Given the description of an element on the screen output the (x, y) to click on. 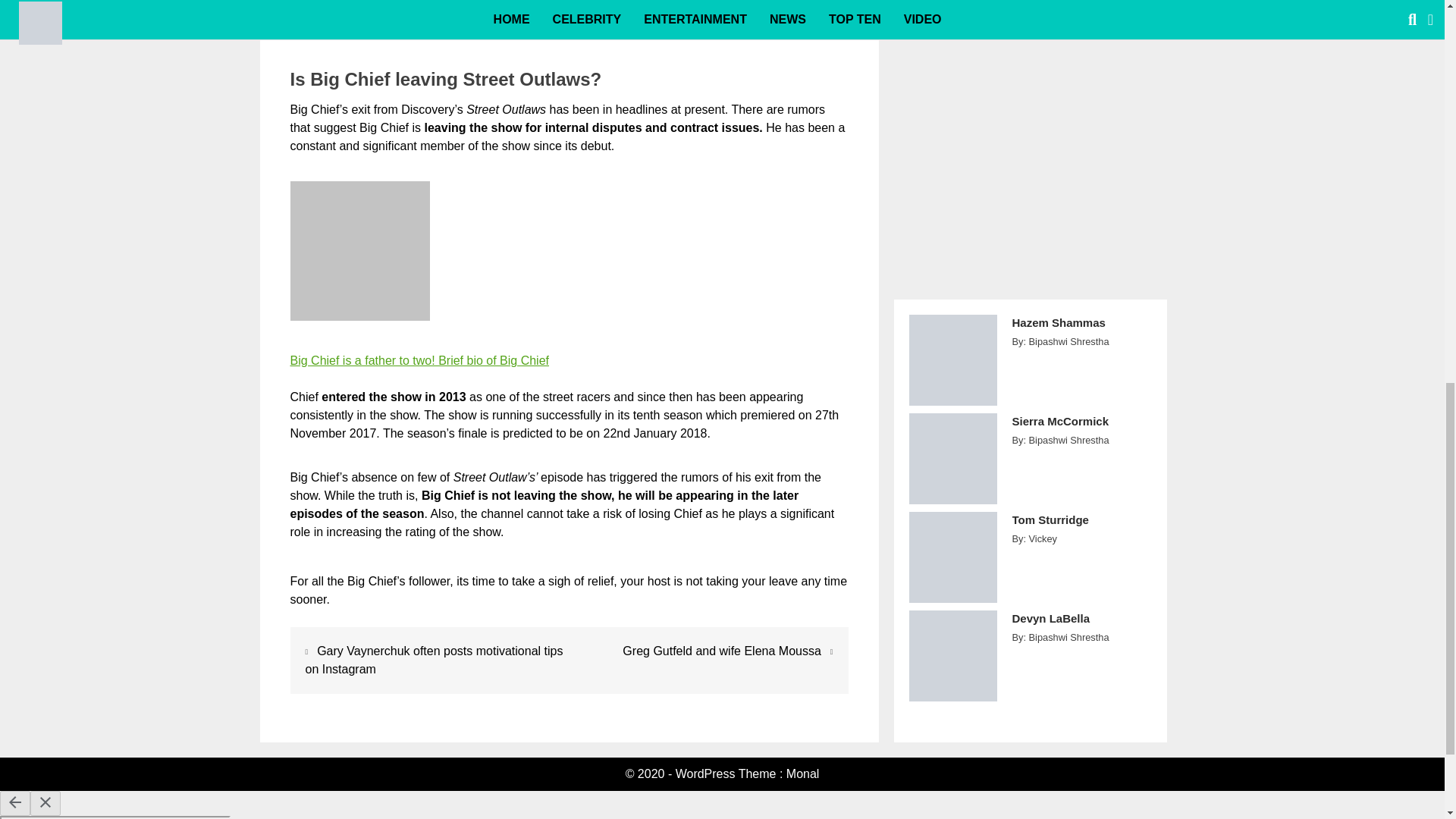
Big Chief is a father to two! Brief bio of Big Chief (418, 359)
Gary Vaynerchuk often posts motivational tips on Instagram (433, 659)
Big Chief (418, 359)
Big Chief is the star of Street Outlwas (359, 250)
Greg Gutfeld and wife Elena Moussa (722, 650)
